Given the description of an element on the screen output the (x, y) to click on. 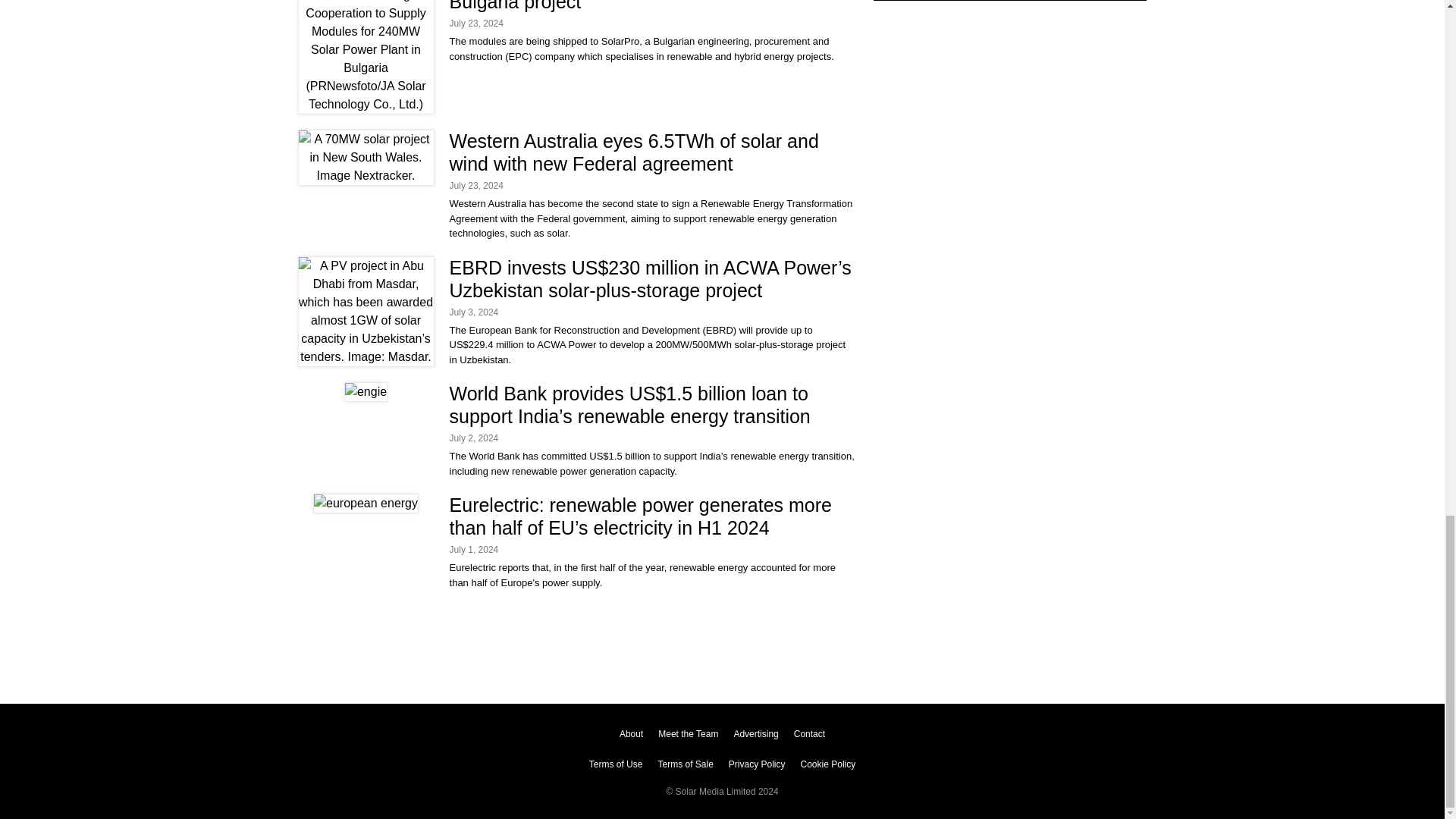
Moree Australia (365, 157)
engie (365, 392)
european energy (366, 503)
